Given the description of an element on the screen output the (x, y) to click on. 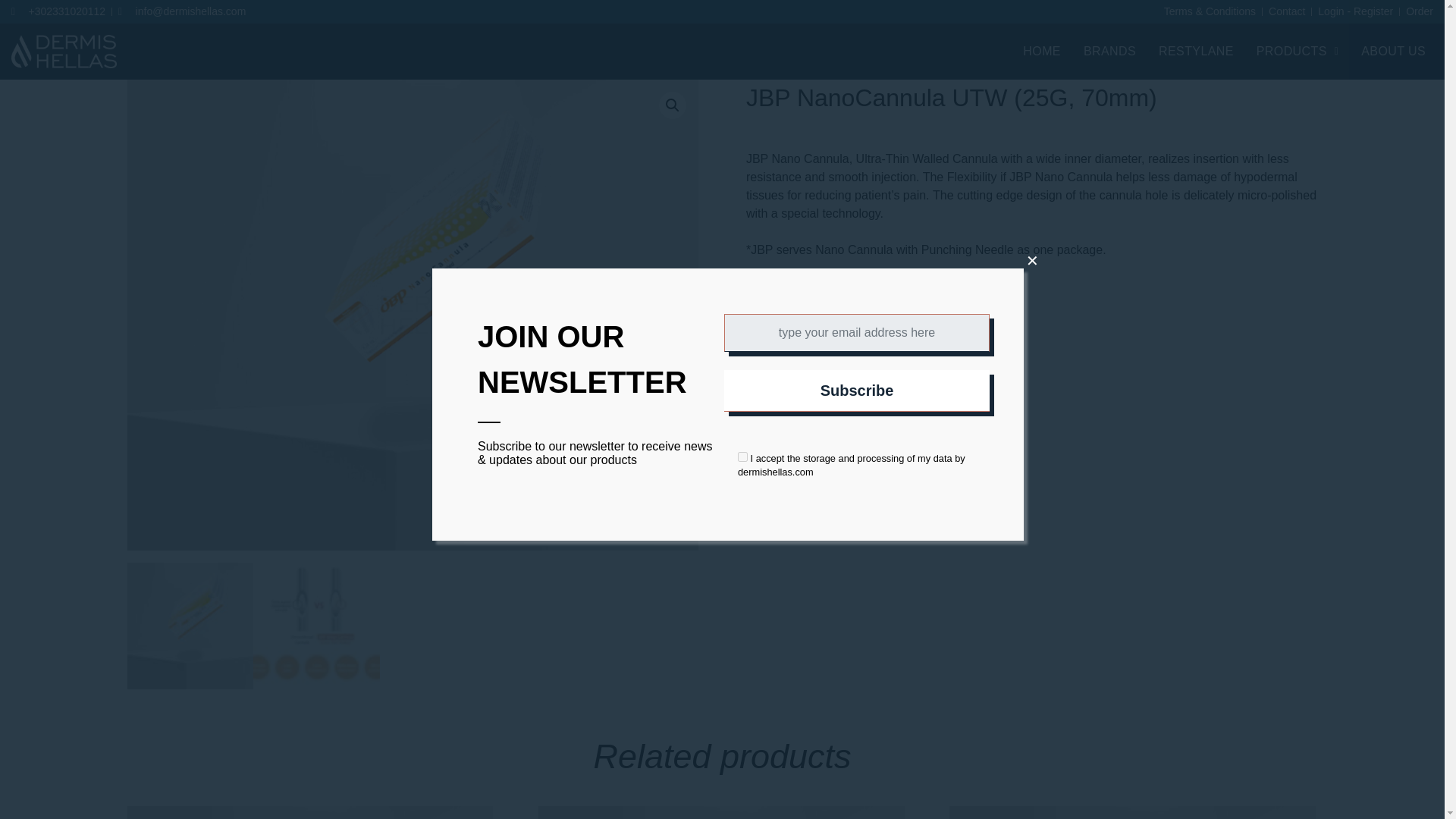
Order (1419, 11)
Login - Register (1355, 11)
HOME (1041, 51)
BRANDS (1109, 51)
PRODUCTS (1297, 51)
ABOUT US (1393, 51)
1 (743, 456)
Contact (1286, 11)
RESTYLANE (1195, 51)
Subscribe (856, 390)
